Given the description of an element on the screen output the (x, y) to click on. 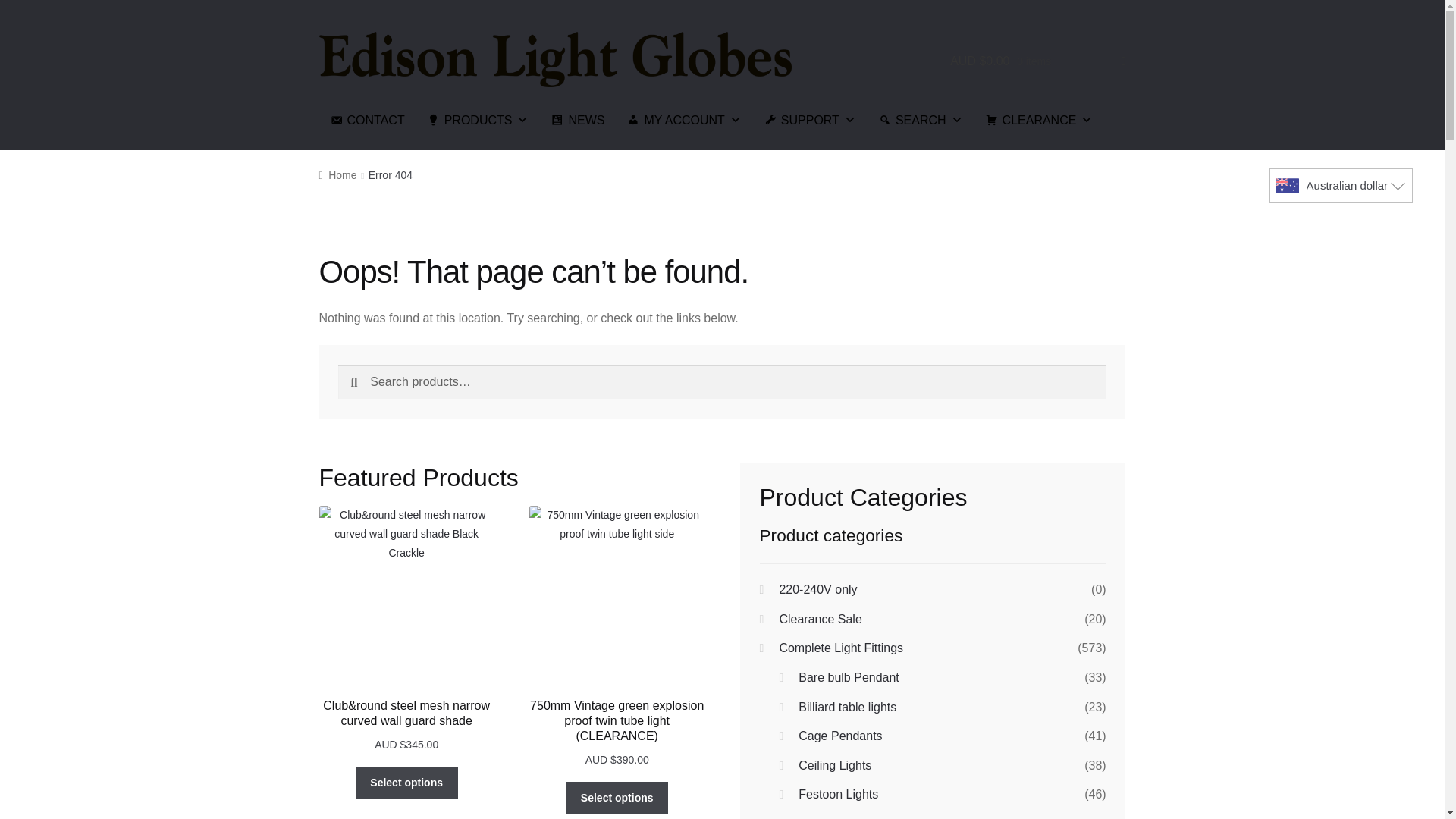
PRODUCTS (478, 119)
CONTACT (367, 119)
View your shopping cart (1037, 60)
